Given the description of an element on the screen output the (x, y) to click on. 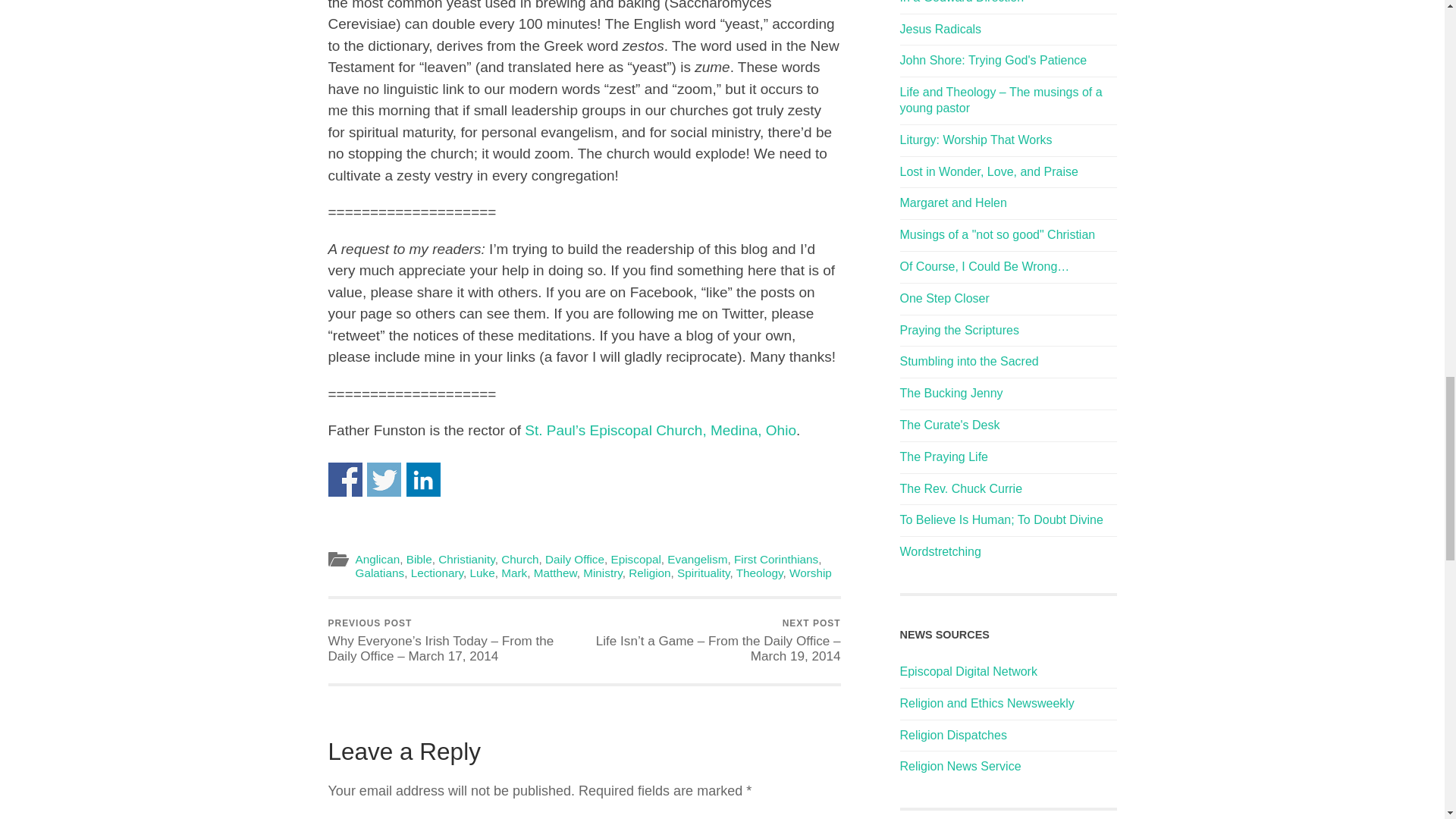
Religion (648, 572)
Evangelism (696, 558)
Matthew (555, 572)
St. Paul's Episcopal Church (660, 430)
Share on Facebook (344, 479)
Luke (482, 572)
Share on Linkedin (423, 479)
Mark (513, 572)
Anglican (376, 558)
Spirituality (703, 572)
